Given the description of an element on the screen output the (x, y) to click on. 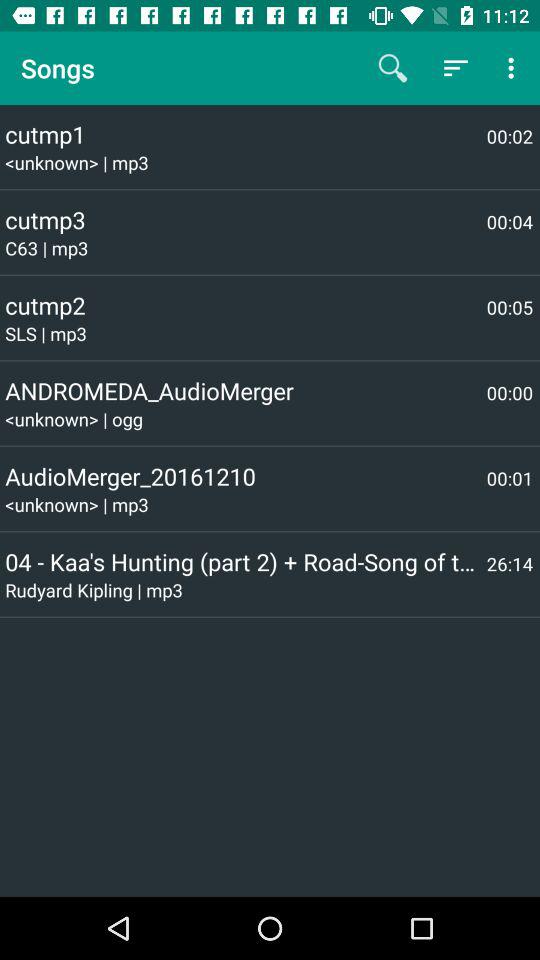
select the item above the cutmp1 item (392, 67)
